Given the description of an element on the screen output the (x, y) to click on. 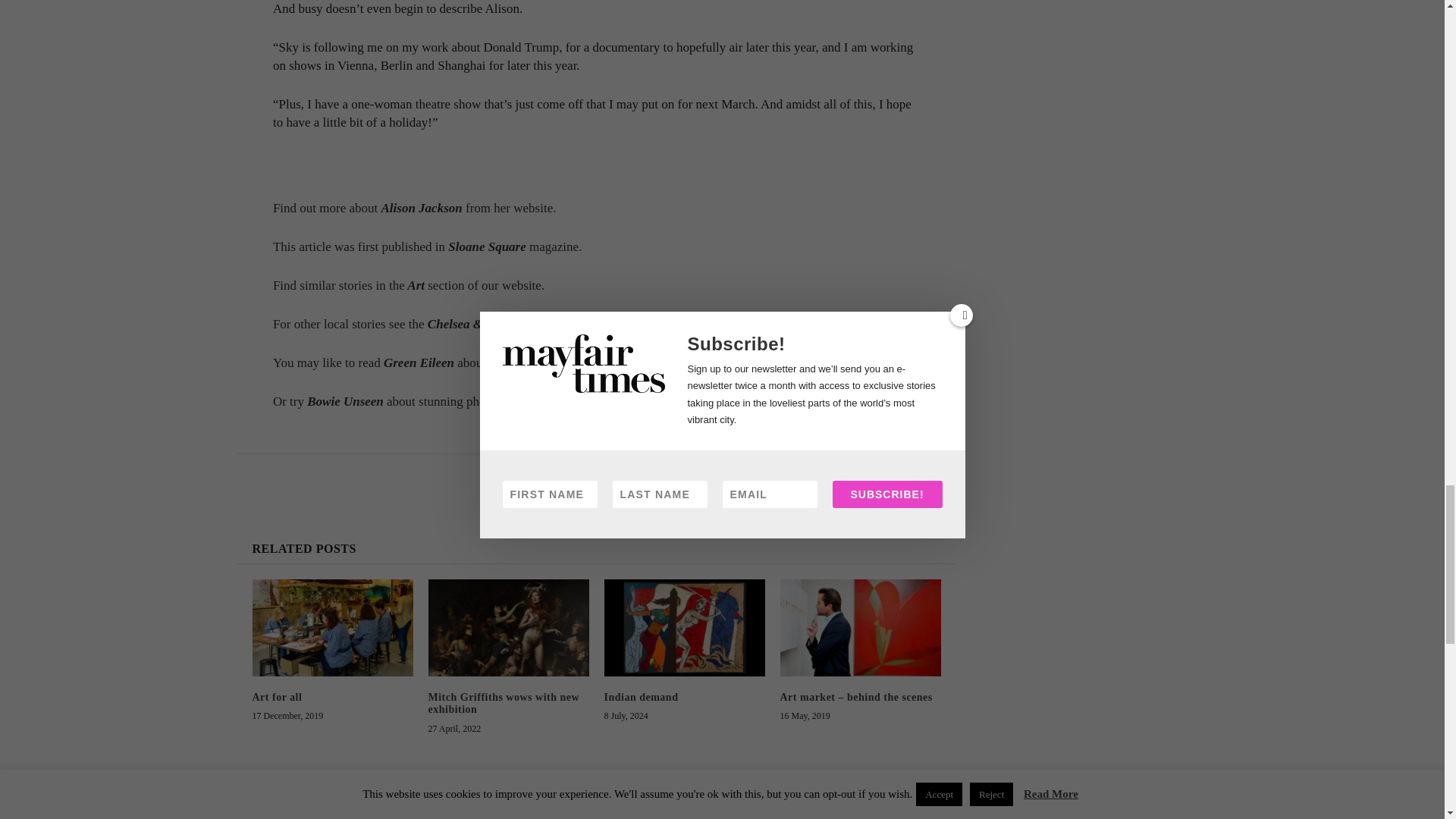
Share "Artist on a mission" via Twitter (622, 481)
Art for all (331, 627)
Mitch Griffiths wows with new exhibition (508, 627)
Indian demand (684, 627)
Share "Artist on a mission" via Email (651, 481)
Share "Artist on a mission" via Facebook (591, 481)
